Given the description of an element on the screen output the (x, y) to click on. 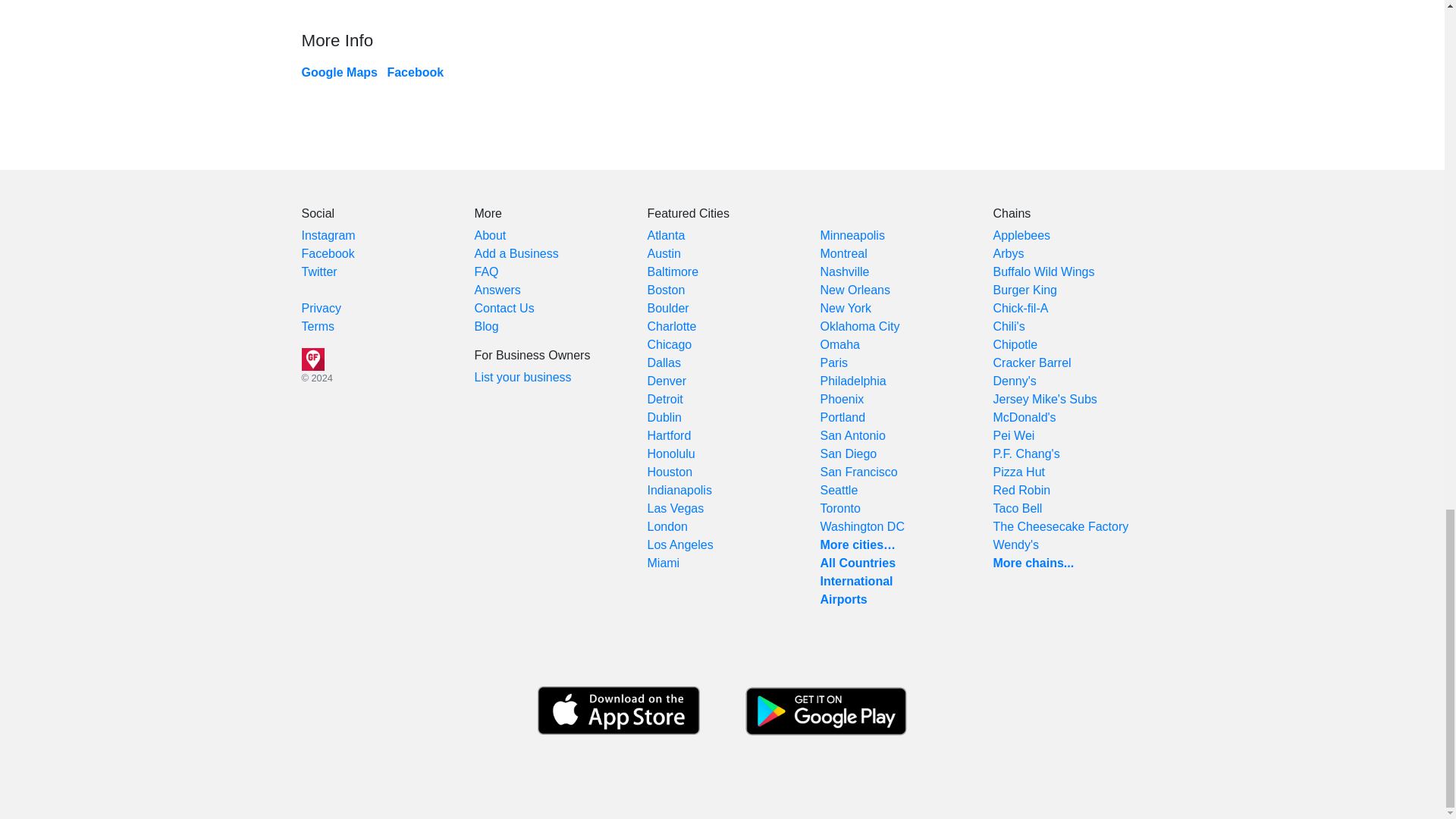
Terms (317, 326)
Instagram (328, 235)
Google Maps (339, 72)
Privacy (320, 308)
Facebook (328, 253)
Facebook (415, 72)
Twitter (319, 271)
